Given the description of an element on the screen output the (x, y) to click on. 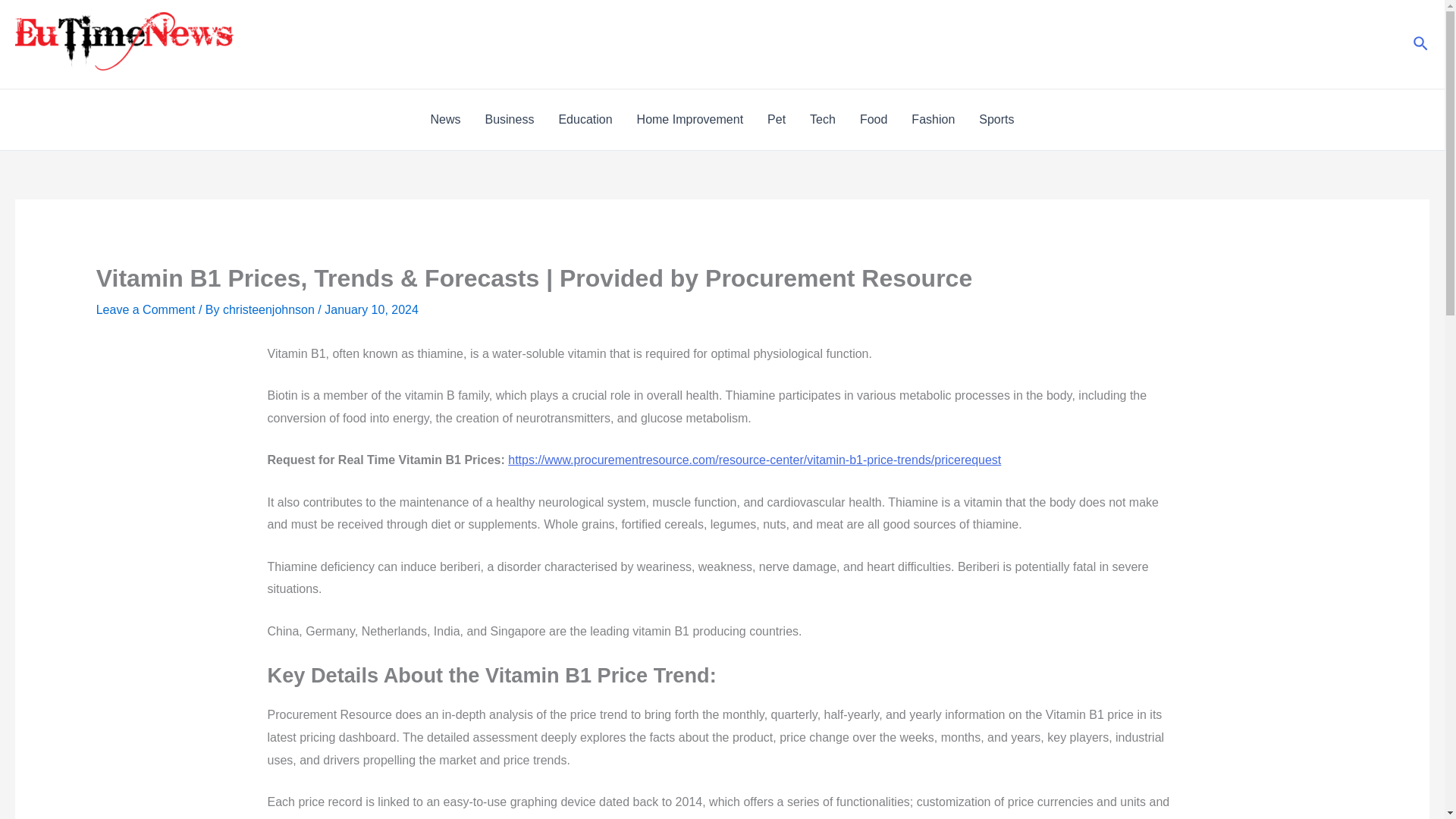
Fashion (932, 119)
Sports (996, 119)
Business (508, 119)
Home Improvement (689, 119)
News (444, 119)
Education (585, 119)
christeenjohnson (269, 309)
View all posts by christeenjohnson (269, 309)
Leave a Comment (145, 309)
